Given the description of an element on the screen output the (x, y) to click on. 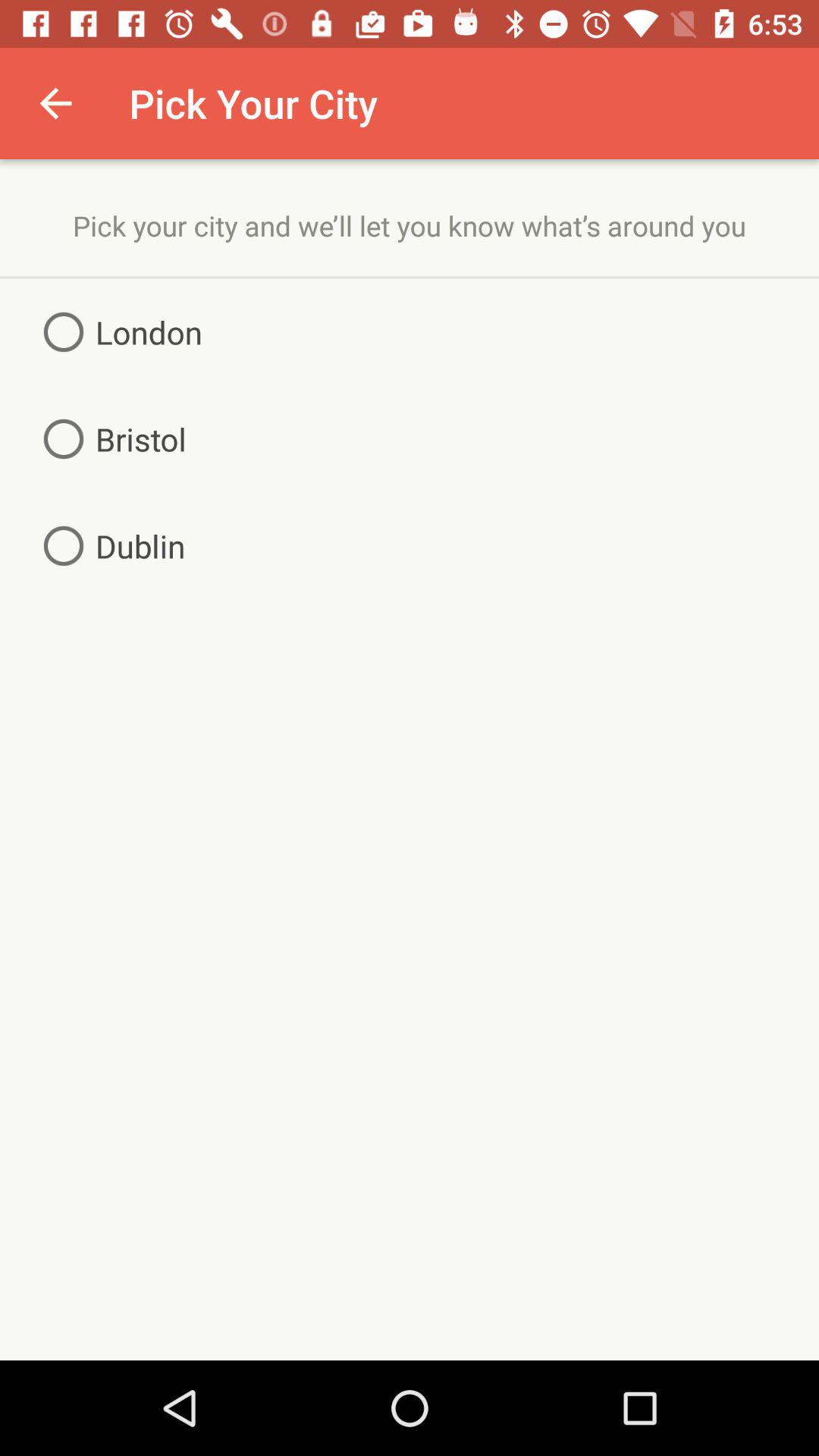
swipe until london (116, 331)
